Given the description of an element on the screen output the (x, y) to click on. 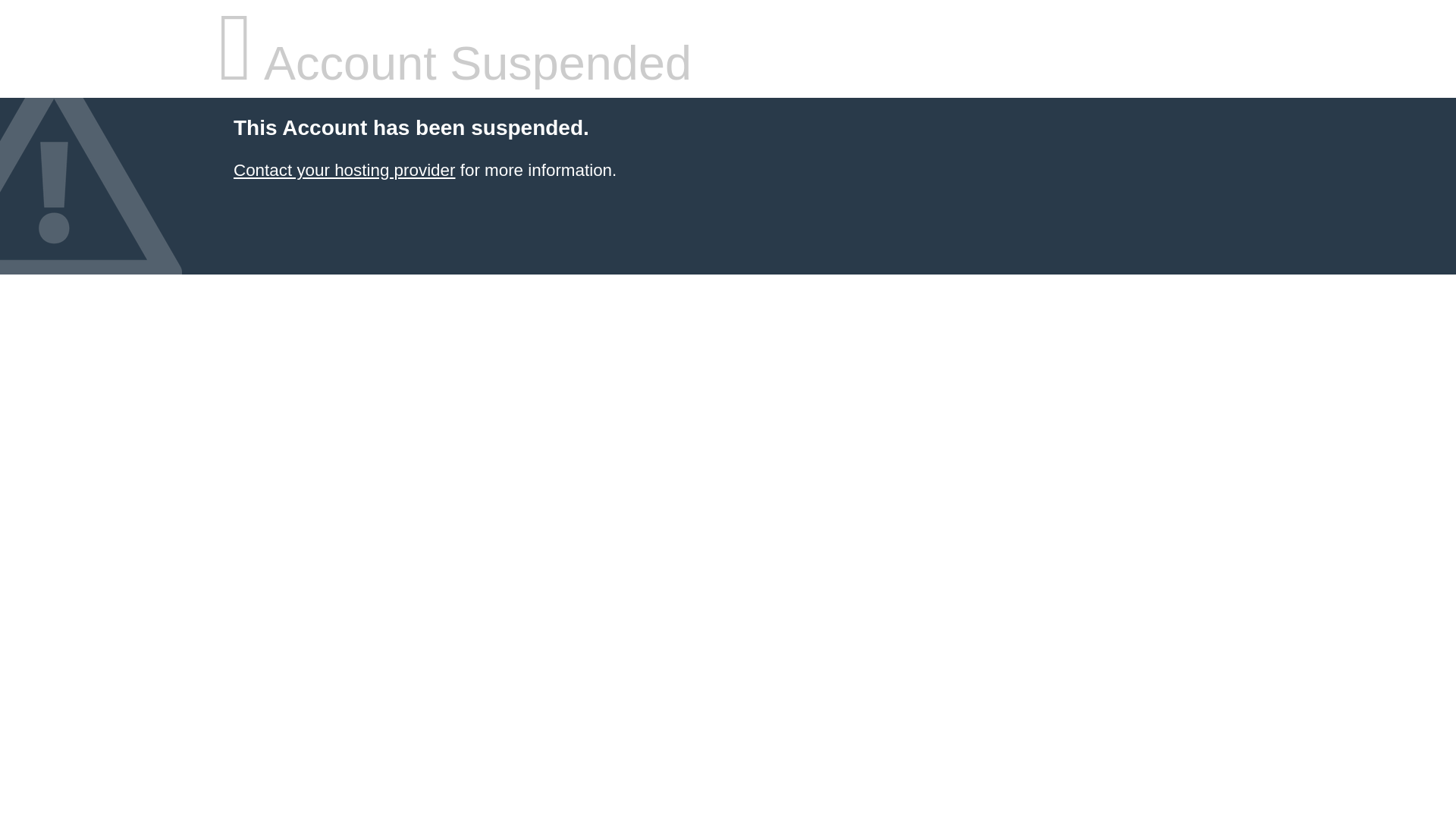
Contact your hosting provider (343, 169)
